Given the description of an element on the screen output the (x, y) to click on. 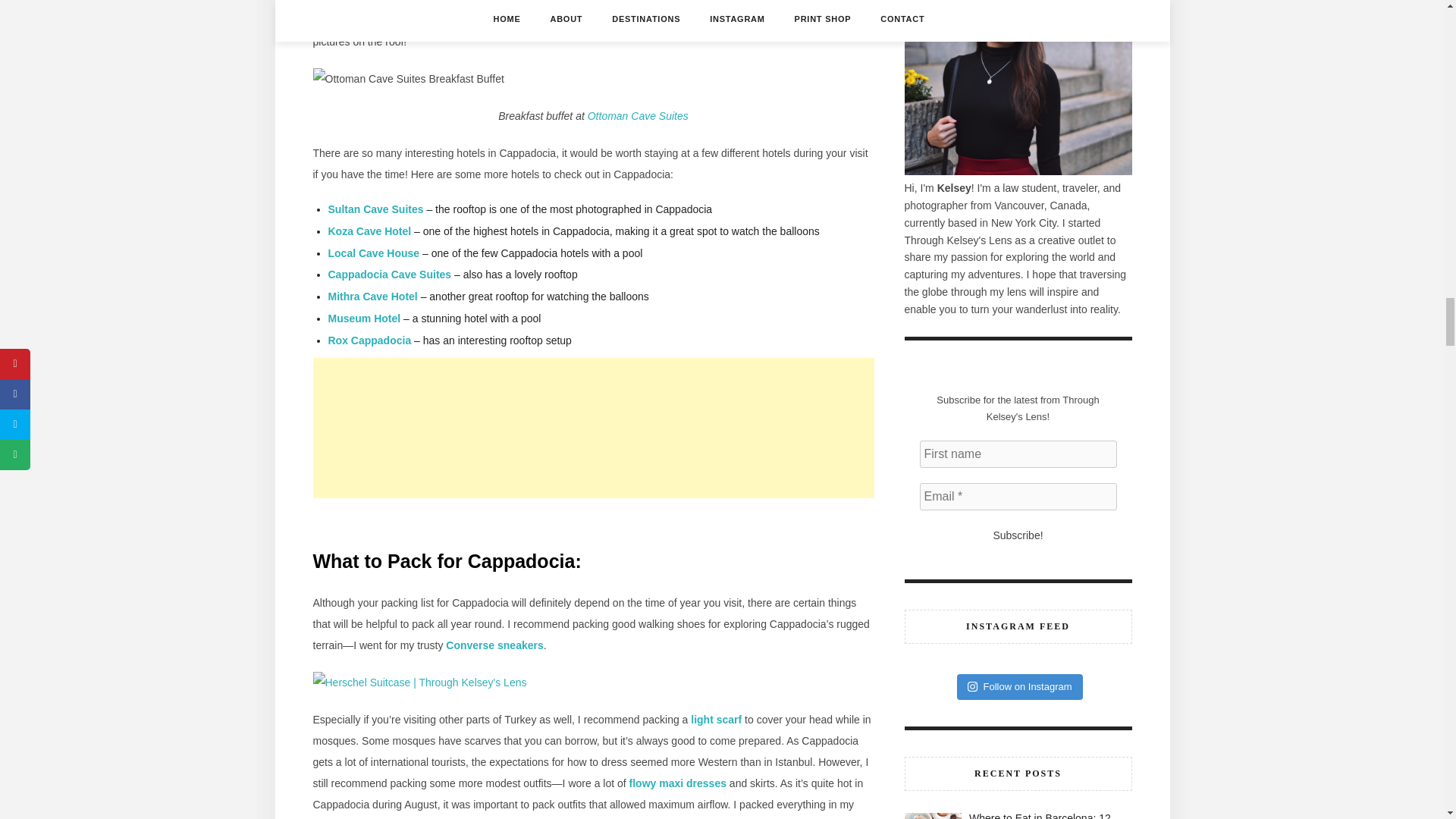
Subscribe! (1017, 535)
